Given the description of an element on the screen output the (x, y) to click on. 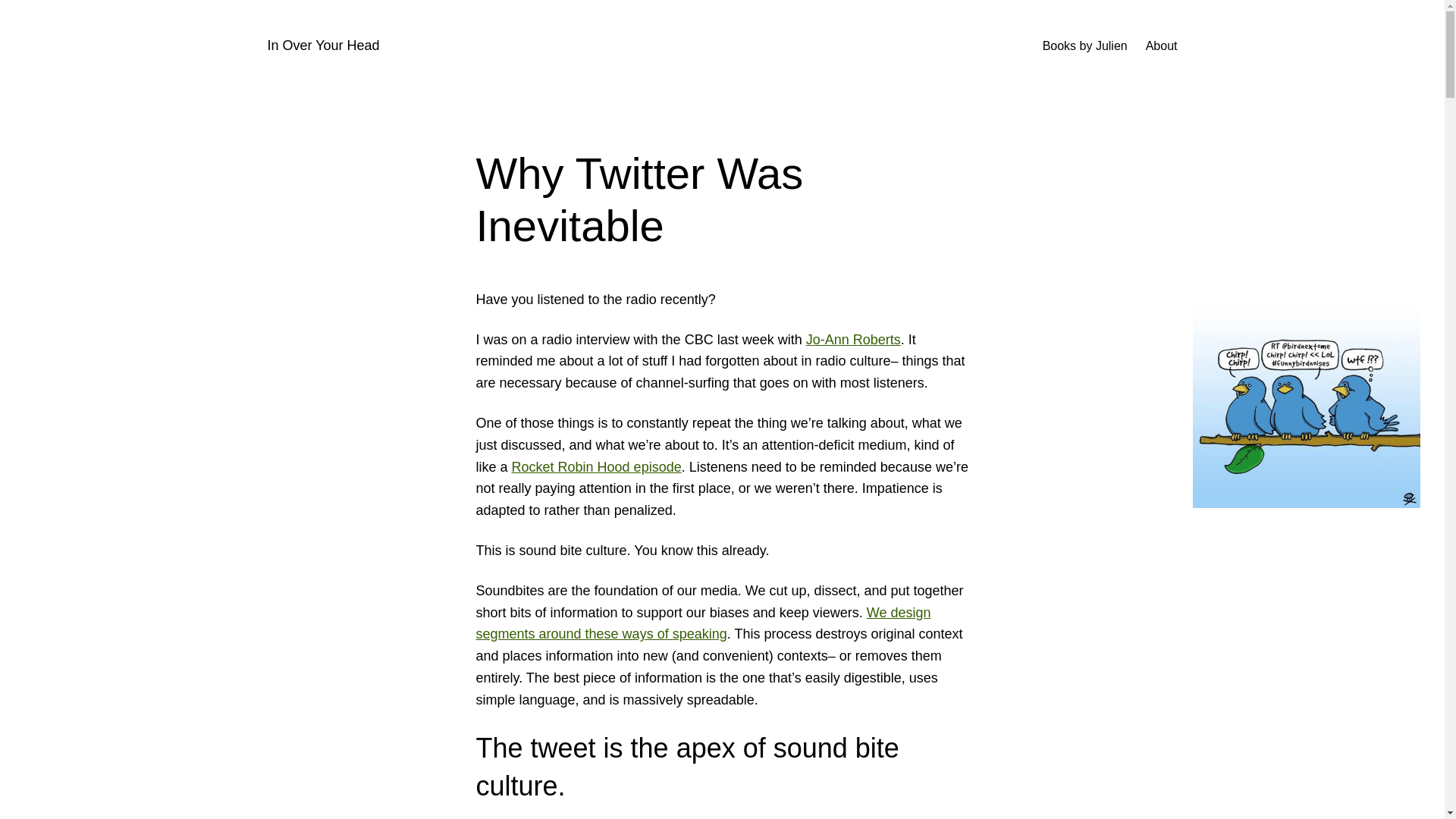
Jo-Ann Roberts (853, 339)
twitter-joke (1306, 398)
We design segments around these ways of speaking (703, 623)
About (1161, 46)
Rocket Robin Hood episode (596, 467)
In Over Your Head (322, 45)
Books by Julien (1084, 46)
